Given the description of an element on the screen output the (x, y) to click on. 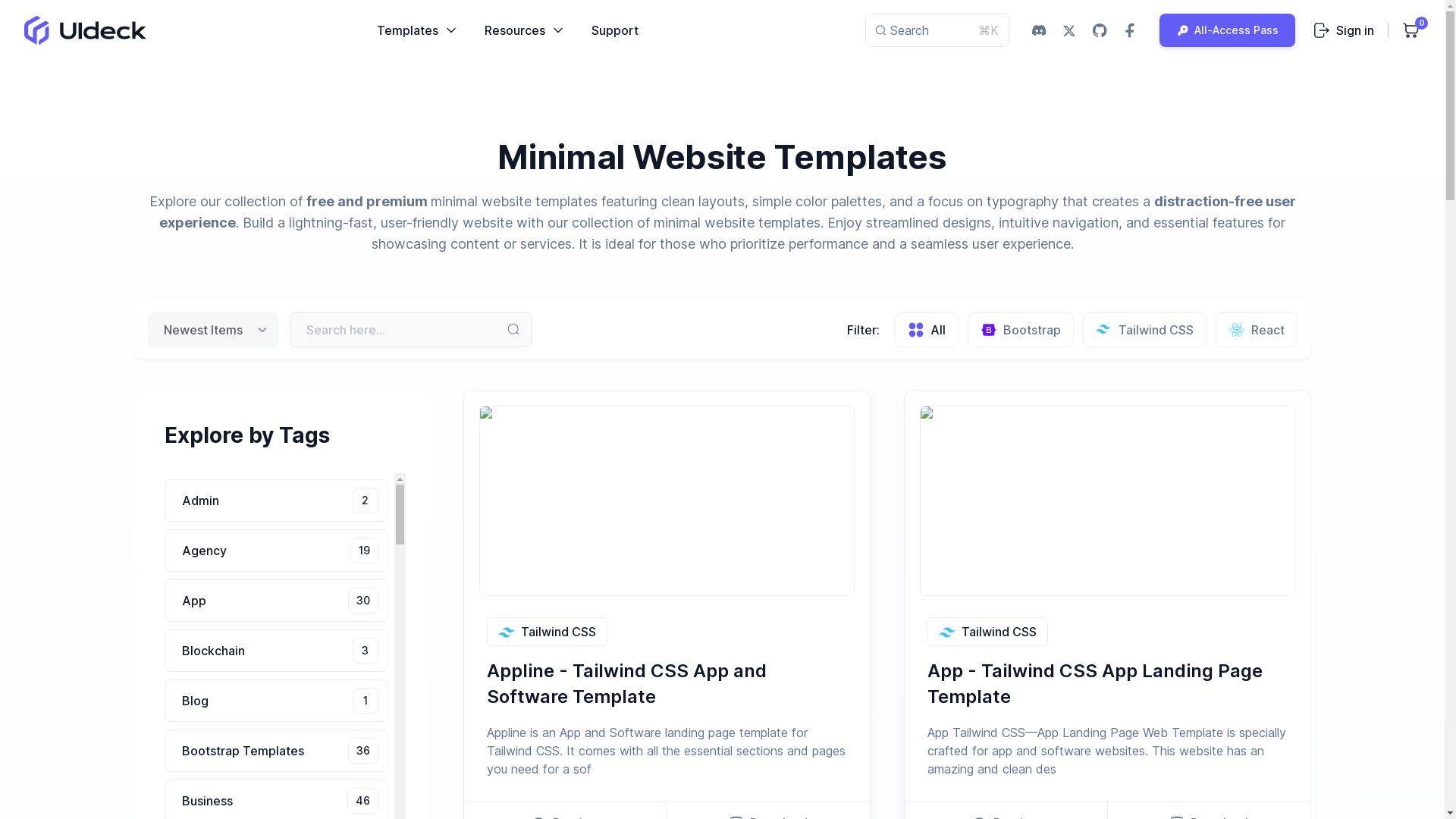
Bootstrap (275, 550)
Tailwind CSS (1021, 329)
All-Access Pass (1145, 329)
React (1226, 29)
Sign in (1255, 329)
Resources (1343, 30)
0 (275, 500)
Templates (524, 30)
